Given the description of an element on the screen output the (x, y) to click on. 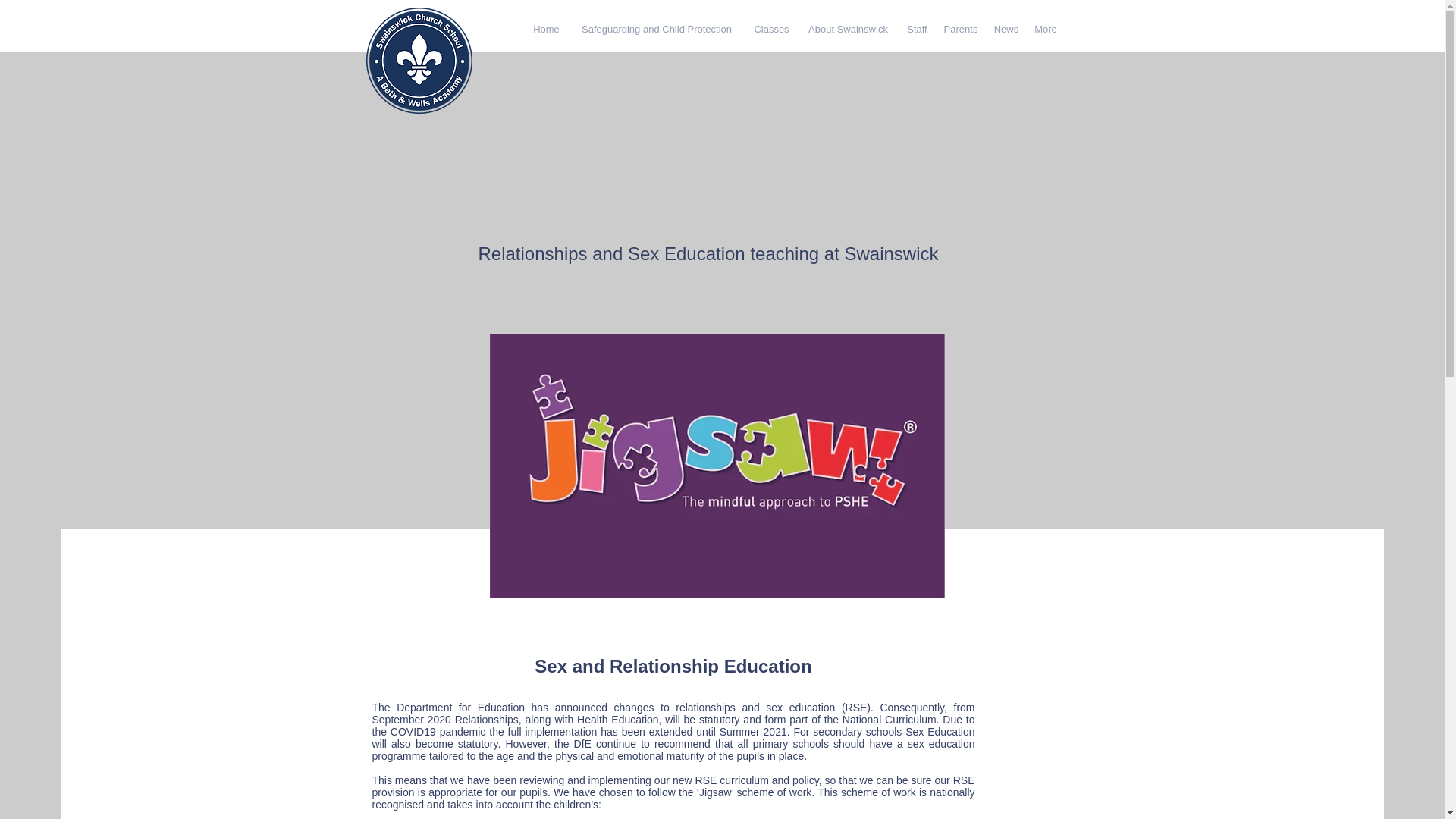
Classes (771, 28)
Safeguarding and Child Protection (656, 28)
Home (545, 28)
